Given the description of an element on the screen output the (x, y) to click on. 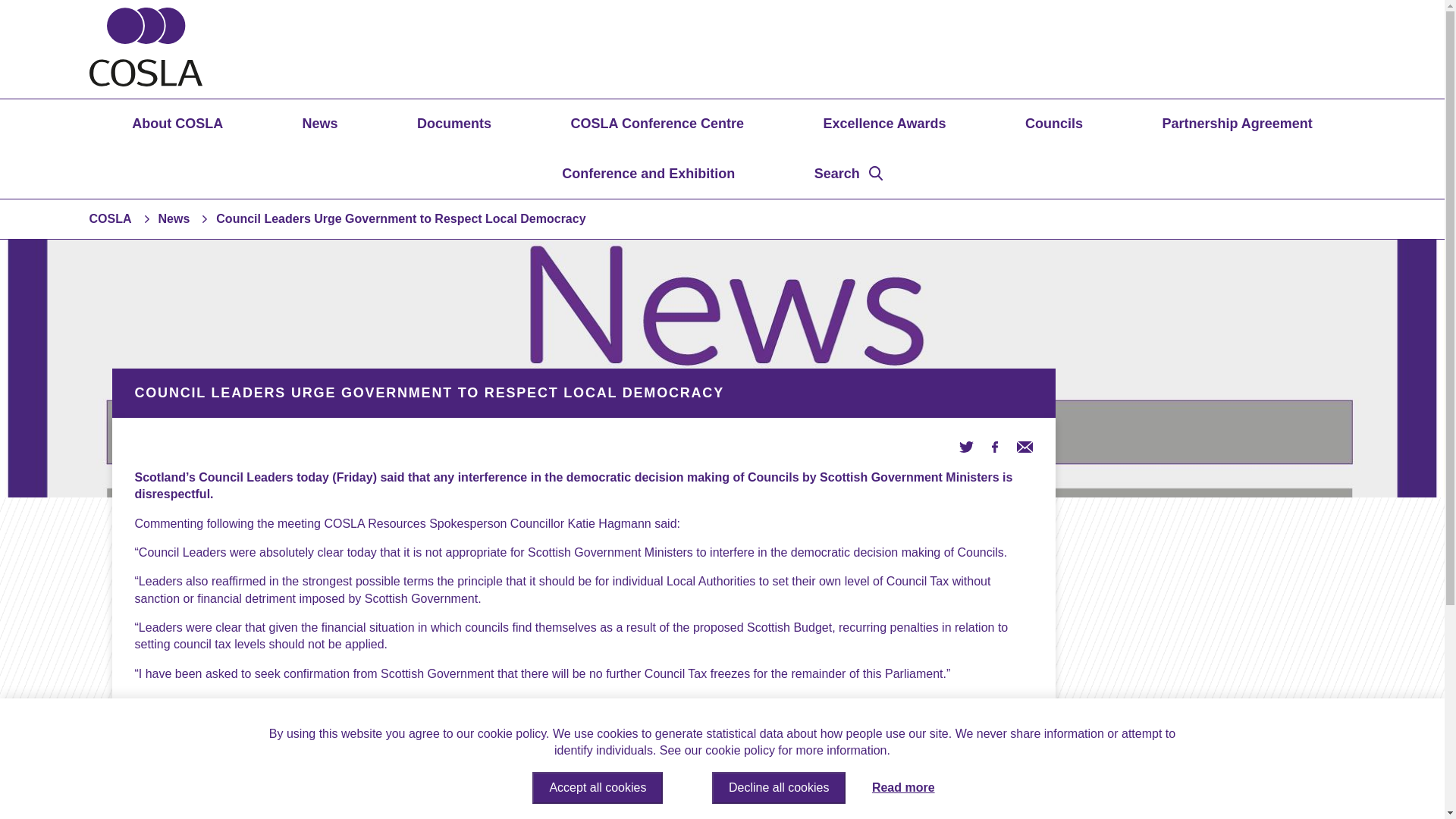
Conference and Exhibition (648, 174)
Link to COSLA (110, 218)
Header logo link (145, 82)
Documents (454, 123)
Excellence Awards (883, 123)
Go to Twitter page (965, 446)
COSLA (110, 218)
Link to News (173, 218)
Councils (1054, 123)
Link to open search (847, 174)
News (173, 218)
Partnership Agreement (1236, 123)
About COSLA (177, 123)
Send an email (1024, 446)
COSLA Conference Centre (657, 123)
